Given the description of an element on the screen output the (x, y) to click on. 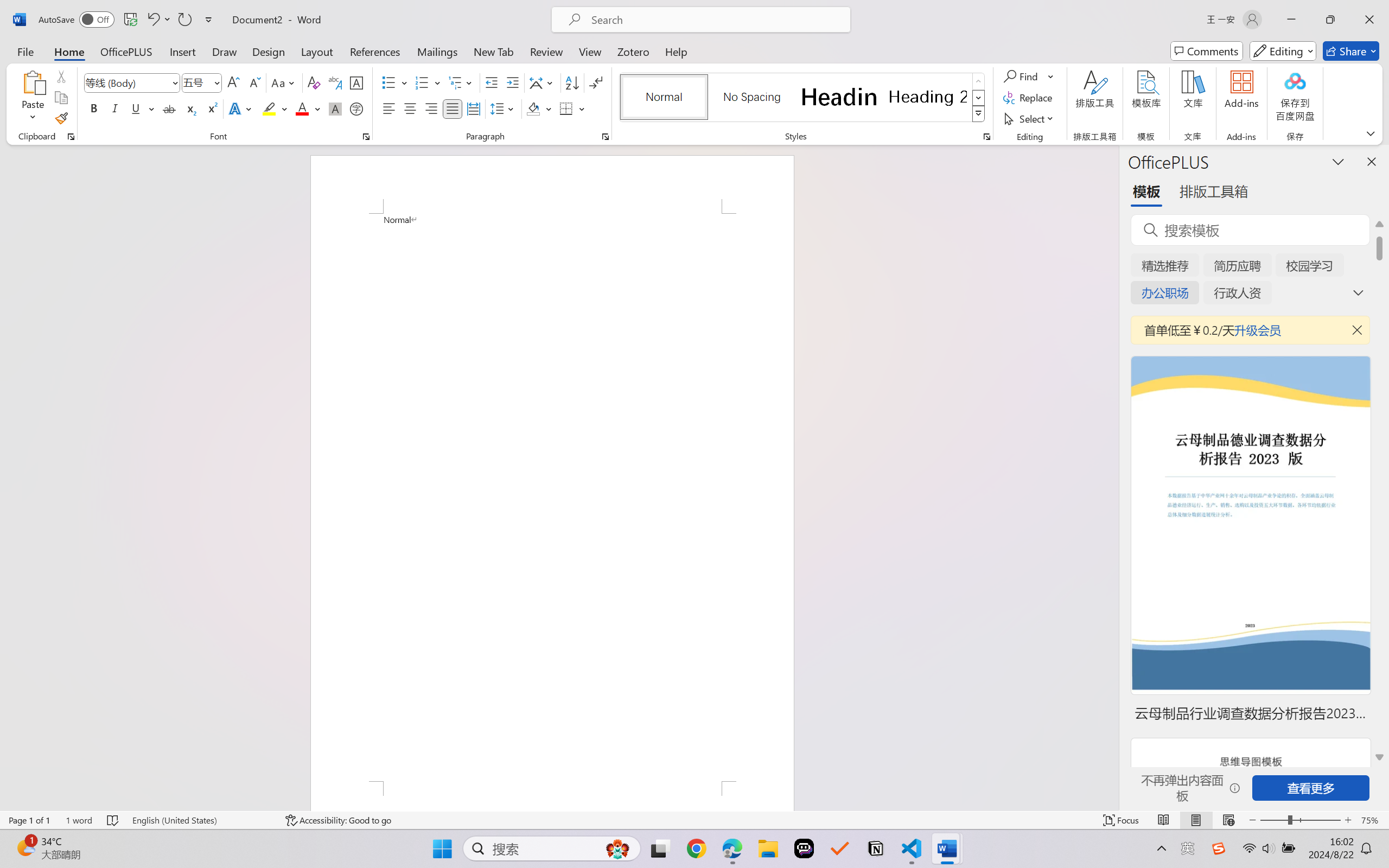
Heading 1 (839, 96)
AutomationID: BadgeAnchorLargeTicker (24, 847)
Enclose Characters... (356, 108)
Underline (142, 108)
Page 1 content (551, 497)
Task Pane Options (1338, 161)
Layout (316, 51)
Cut (60, 75)
View (589, 51)
Customize Quick Access Toolbar (208, 19)
File Tab (24, 51)
Select (1030, 118)
